Given the description of an element on the screen output the (x, y) to click on. 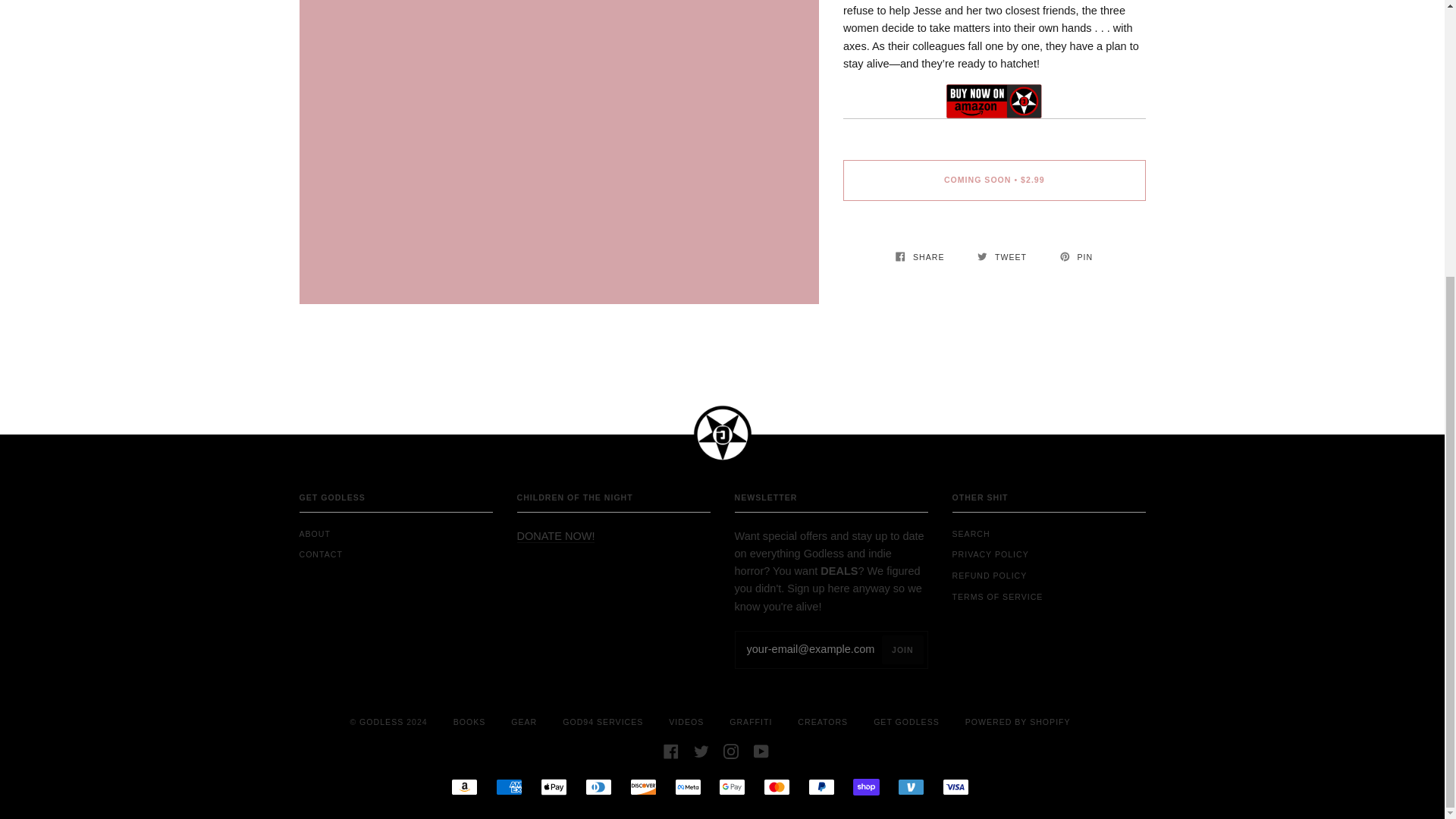
APPLE PAY (553, 786)
AMERICAN EXPRESS (509, 786)
Buy Triple Axe by Scott Cole on Amazon (994, 100)
DISCOVER (643, 786)
DINERS CLUB (598, 786)
Facebook (670, 750)
GOOGLE PAY (732, 786)
Twitter (701, 750)
Instagram (730, 750)
YouTube (761, 750)
